Given the description of an element on the screen output the (x, y) to click on. 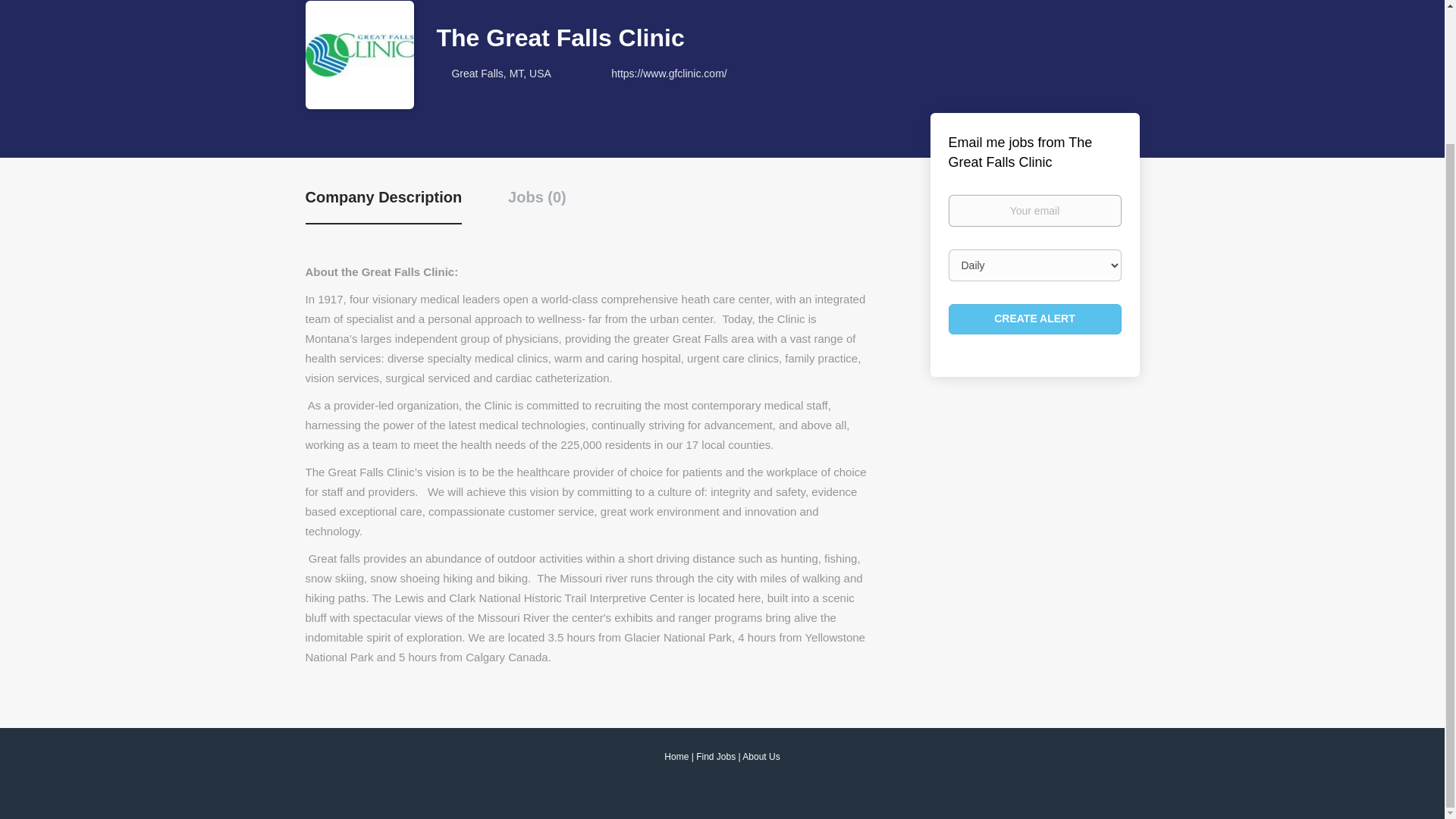
Create alert (1034, 318)
Create alert (1034, 318)
Find Jobs (715, 756)
About Us (760, 756)
Company Description (382, 205)
Home (675, 756)
